Given the description of an element on the screen output the (x, y) to click on. 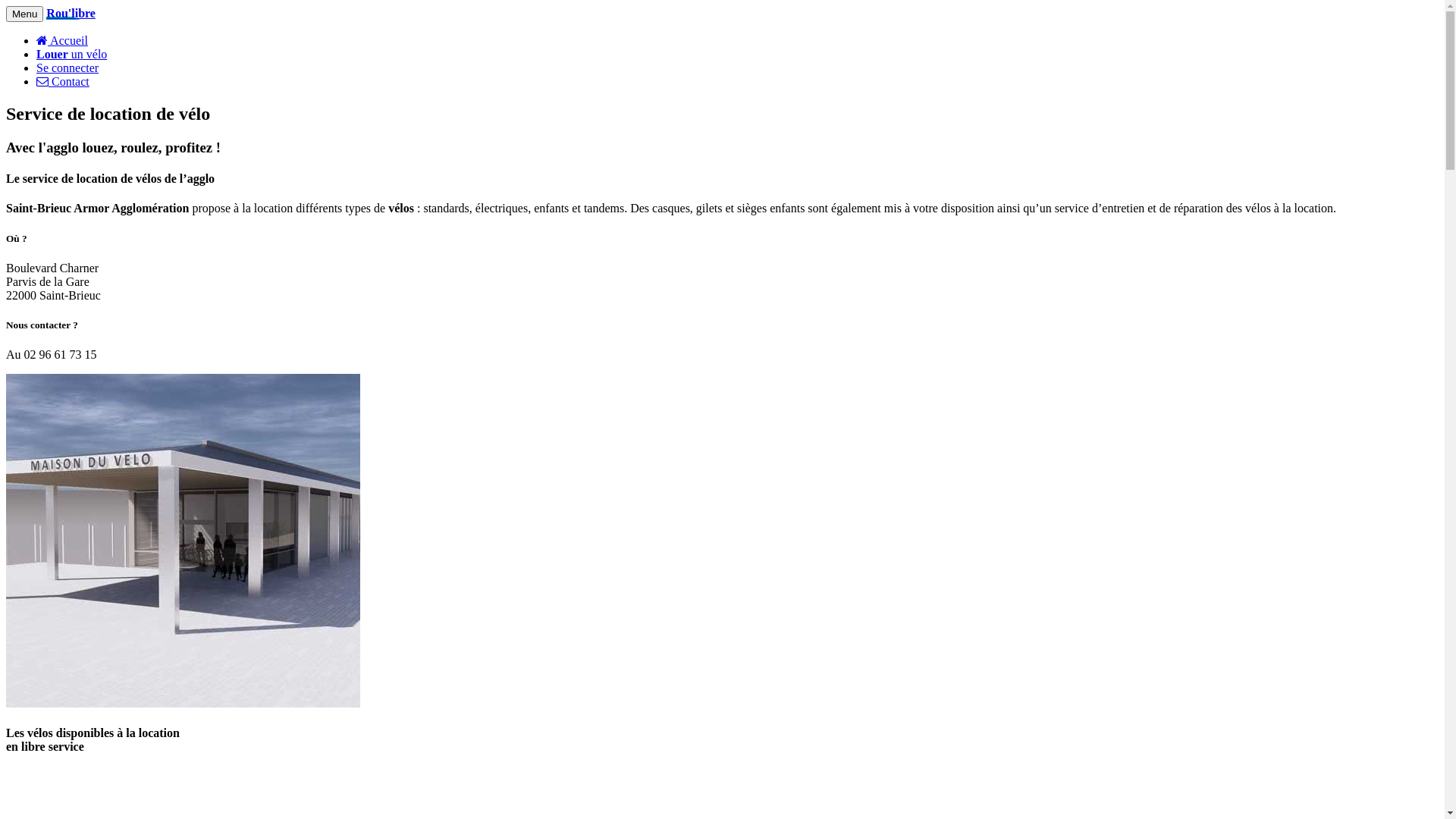
Contact Element type: text (62, 81)
Se connecter Element type: text (67, 67)
Accueil Element type: text (61, 40)
Menu Element type: text (24, 13)
Rou'libre Element type: text (70, 12)
